Given the description of an element on the screen output the (x, y) to click on. 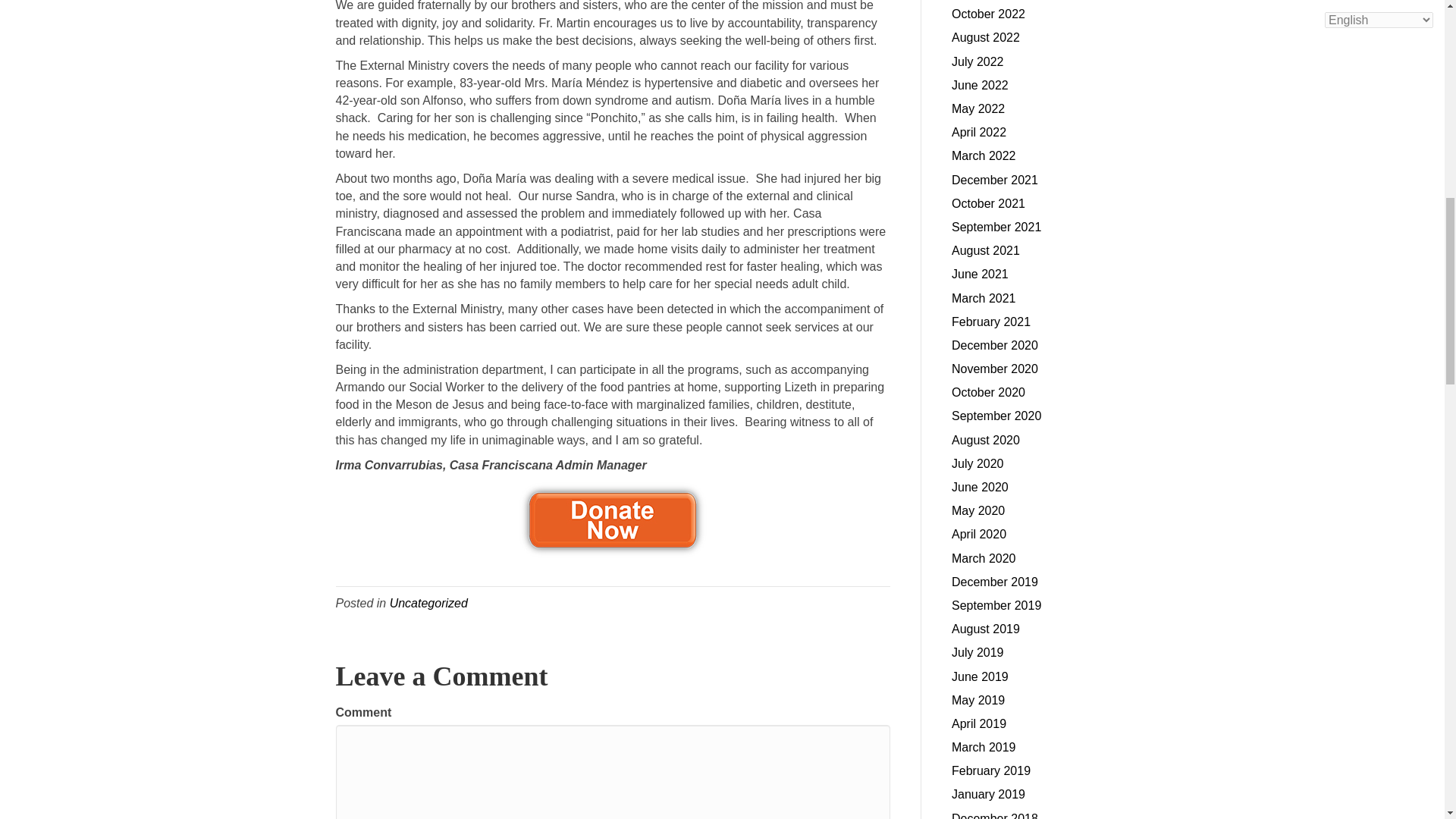
Uncategorized (428, 603)
